Given the description of an element on the screen output the (x, y) to click on. 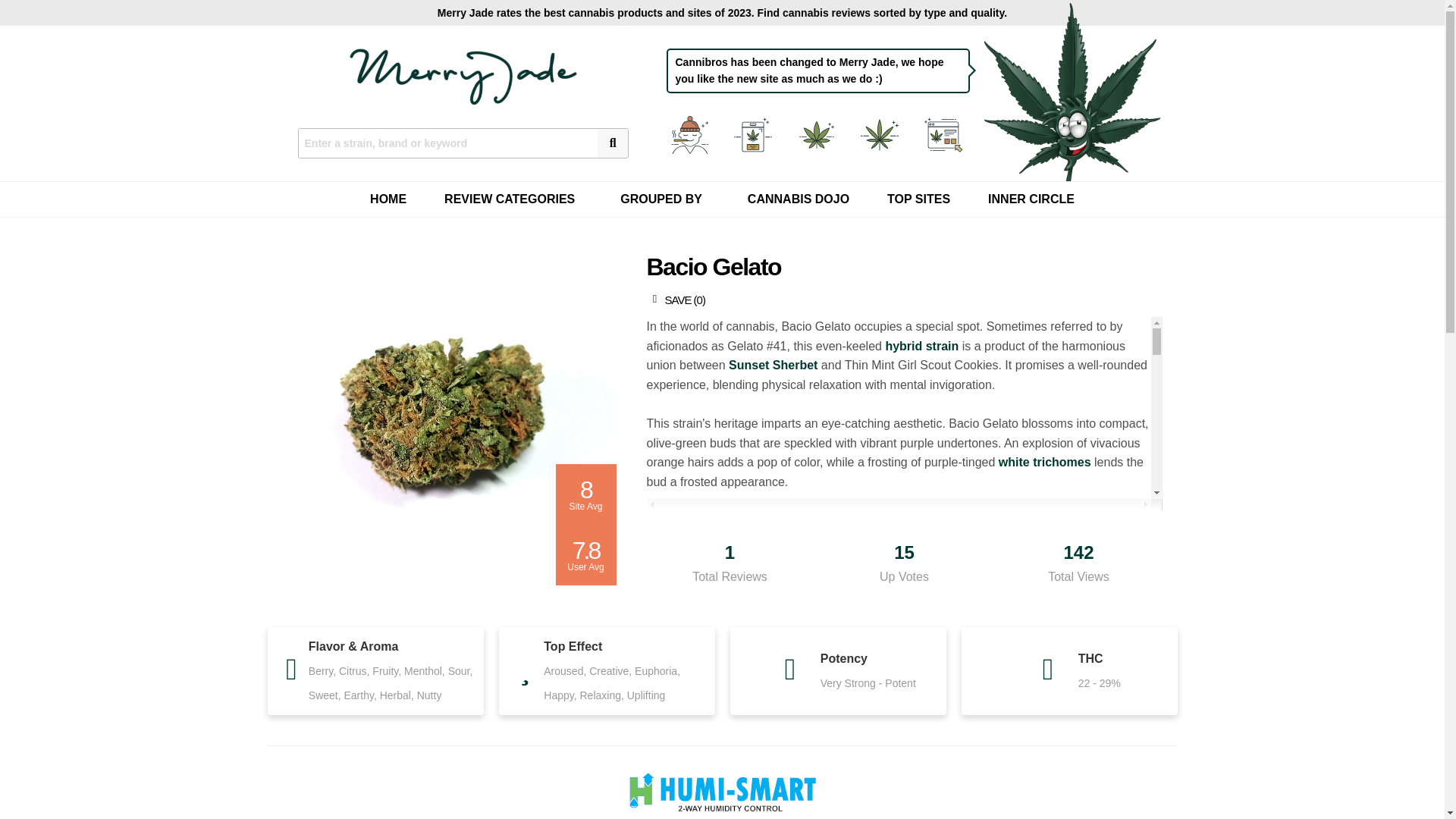
Sativa Reviews (881, 134)
About Merry Jade (691, 134)
HOME (387, 199)
TOP SITES (918, 199)
CANNABIS DOJO (798, 199)
hybrid strain (921, 345)
REVIEW CATEGORIES (513, 199)
INNER CIRCLE (1031, 199)
Indica Reviews (818, 134)
Sunset Sherbet (772, 364)
GROUPED BY (664, 199)
Cannabis Reviews (754, 134)
Search (447, 143)
Top Cannabis Sites (944, 134)
Bookmark This (675, 301)
